Given the description of an element on the screen output the (x, y) to click on. 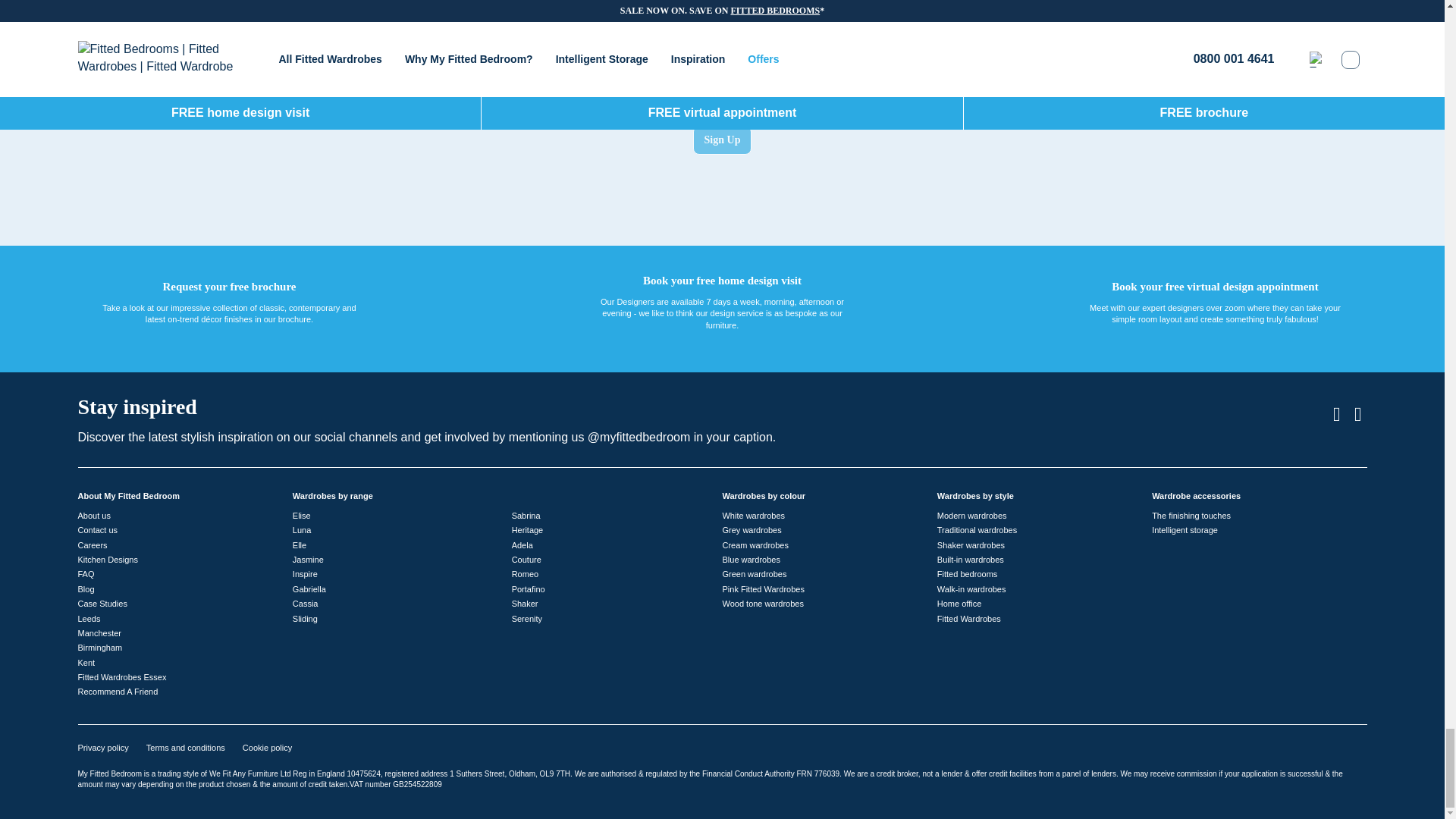
Follow us on Facebook (1357, 414)
Follow us on Instagram (1336, 414)
